Given the description of an element on the screen output the (x, y) to click on. 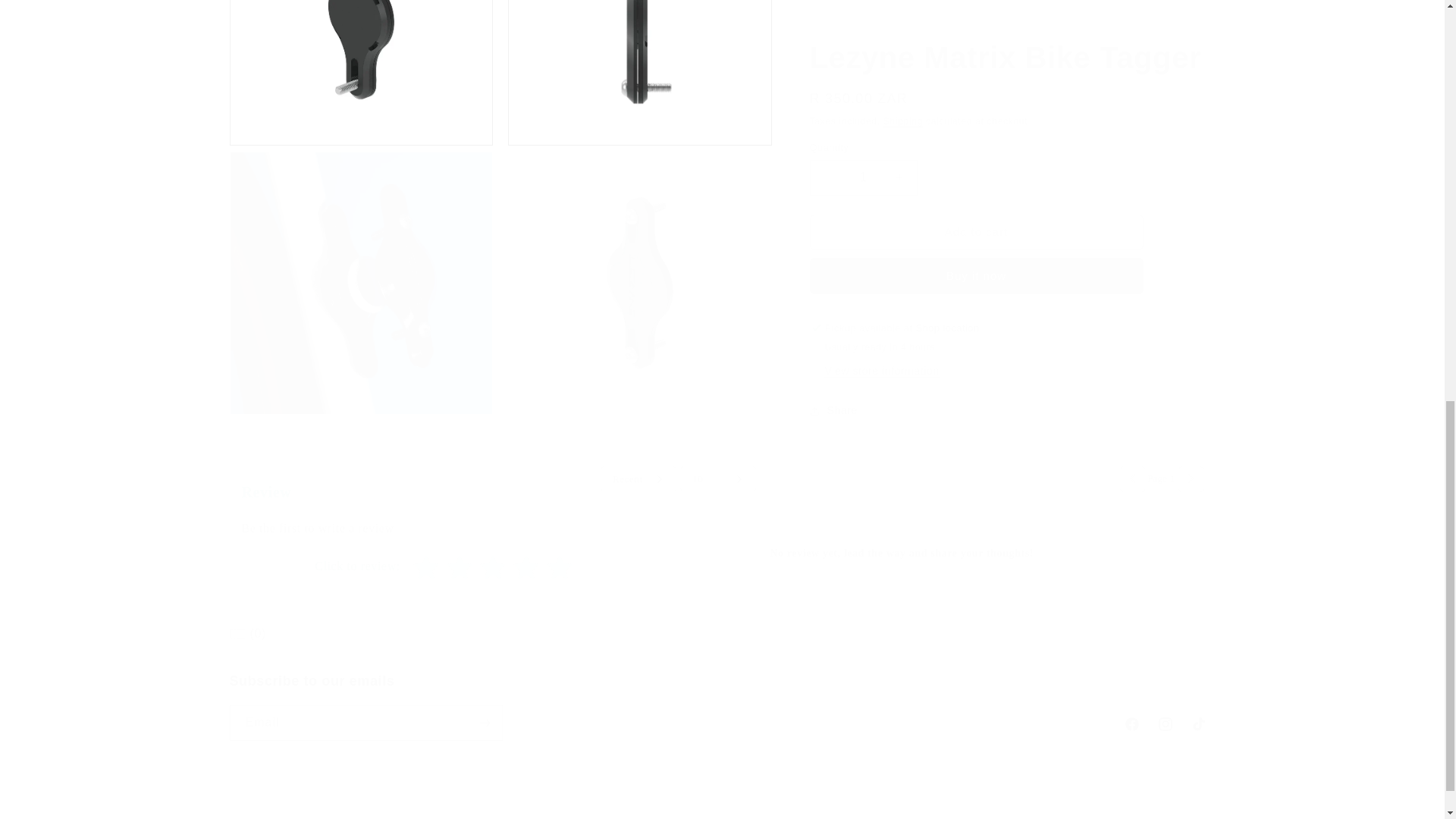
Open media 3 in modal (639, 65)
Open media 5 in modal (639, 268)
Open media 4 in modal (360, 268)
Open media 2 in modal (360, 65)
